Given the description of an element on the screen output the (x, y) to click on. 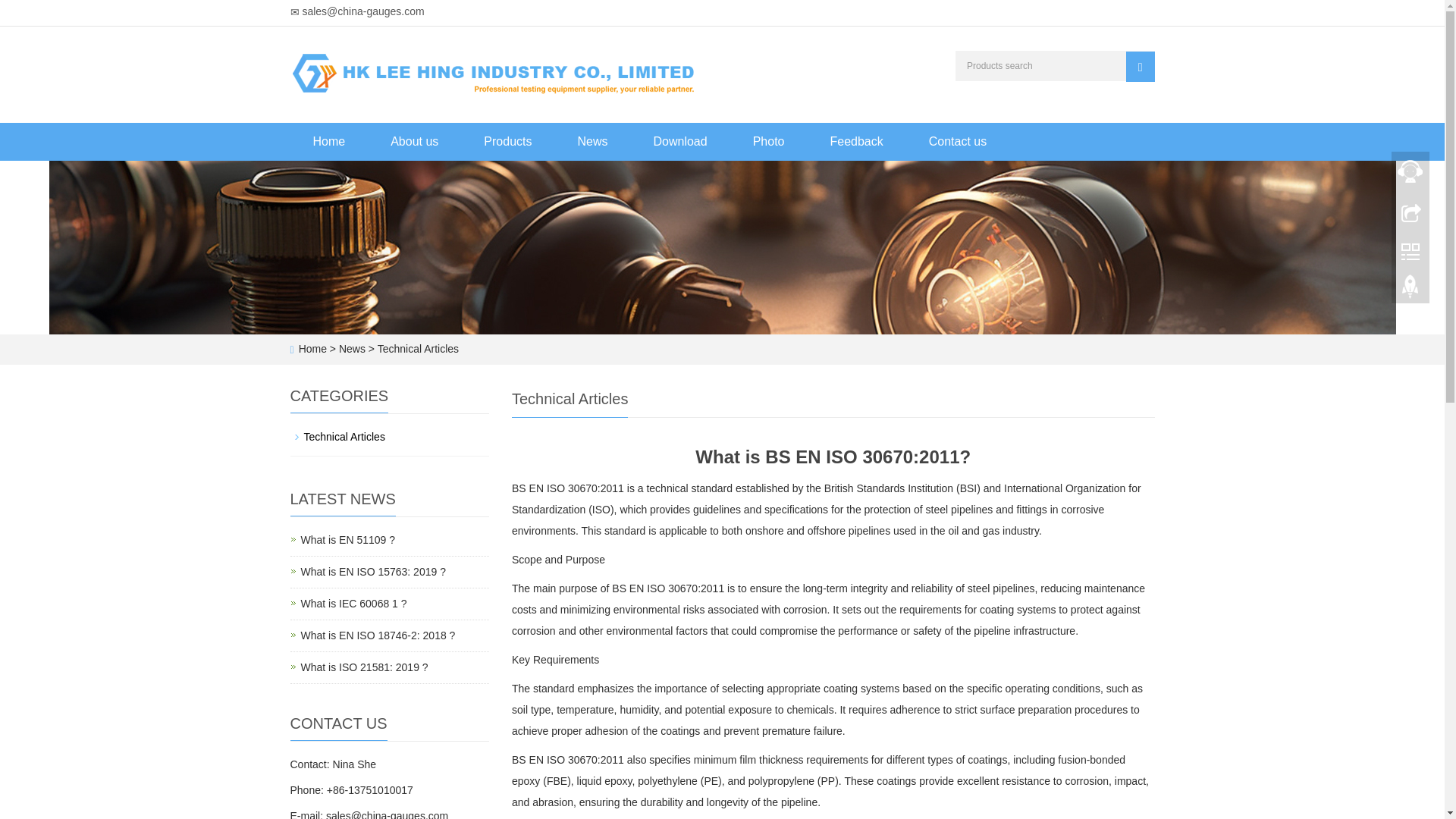
Photo (769, 141)
Download (680, 141)
Home (312, 348)
News (592, 141)
About us (414, 141)
News (353, 348)
Technical Articles (352, 603)
Contact us (416, 348)
